Given the description of an element on the screen output the (x, y) to click on. 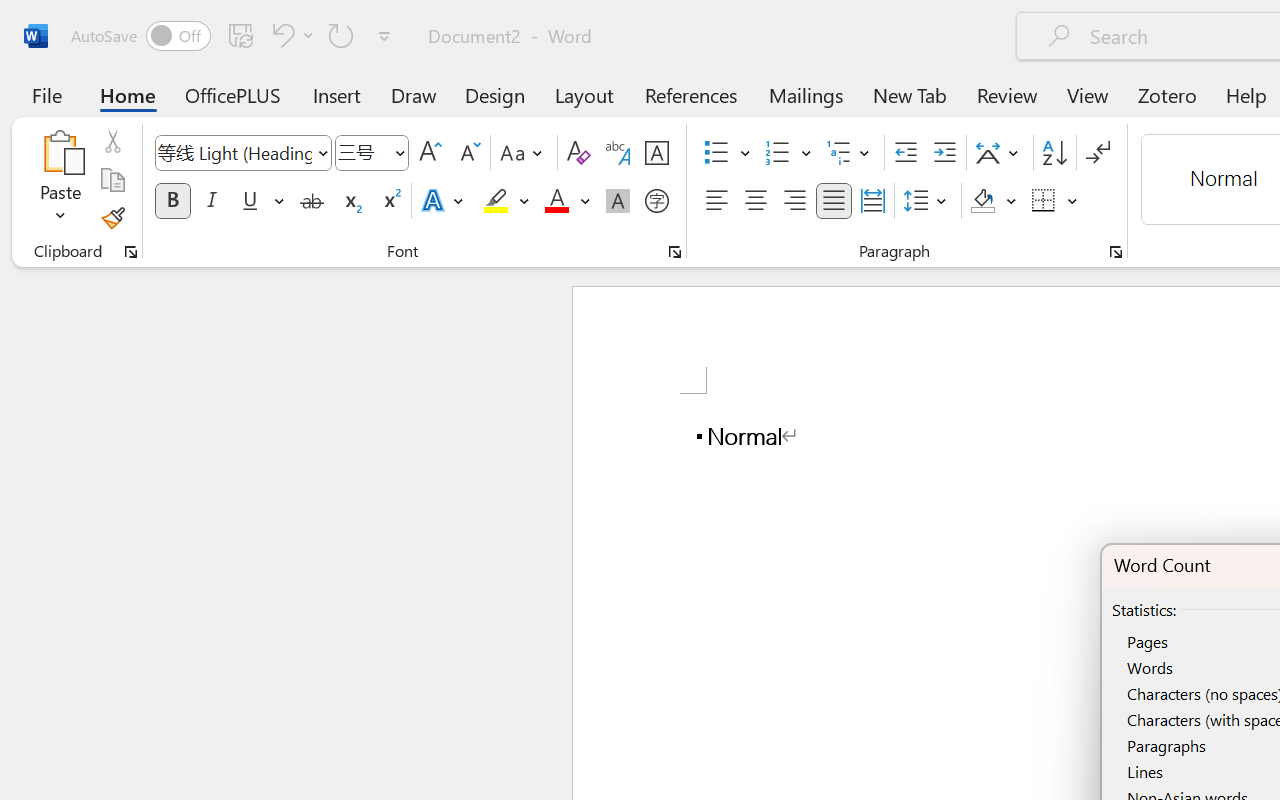
Bullets (716, 153)
Text Highlight Color (506, 201)
Italic (212, 201)
Save (241, 35)
Character Shading (618, 201)
View (1087, 94)
Phonetic Guide... (618, 153)
Repeat Doc Close (341, 35)
Paste (60, 179)
Change Case (524, 153)
Layout (584, 94)
Cut (112, 141)
Superscript (390, 201)
Insert (337, 94)
